Given the description of an element on the screen output the (x, y) to click on. 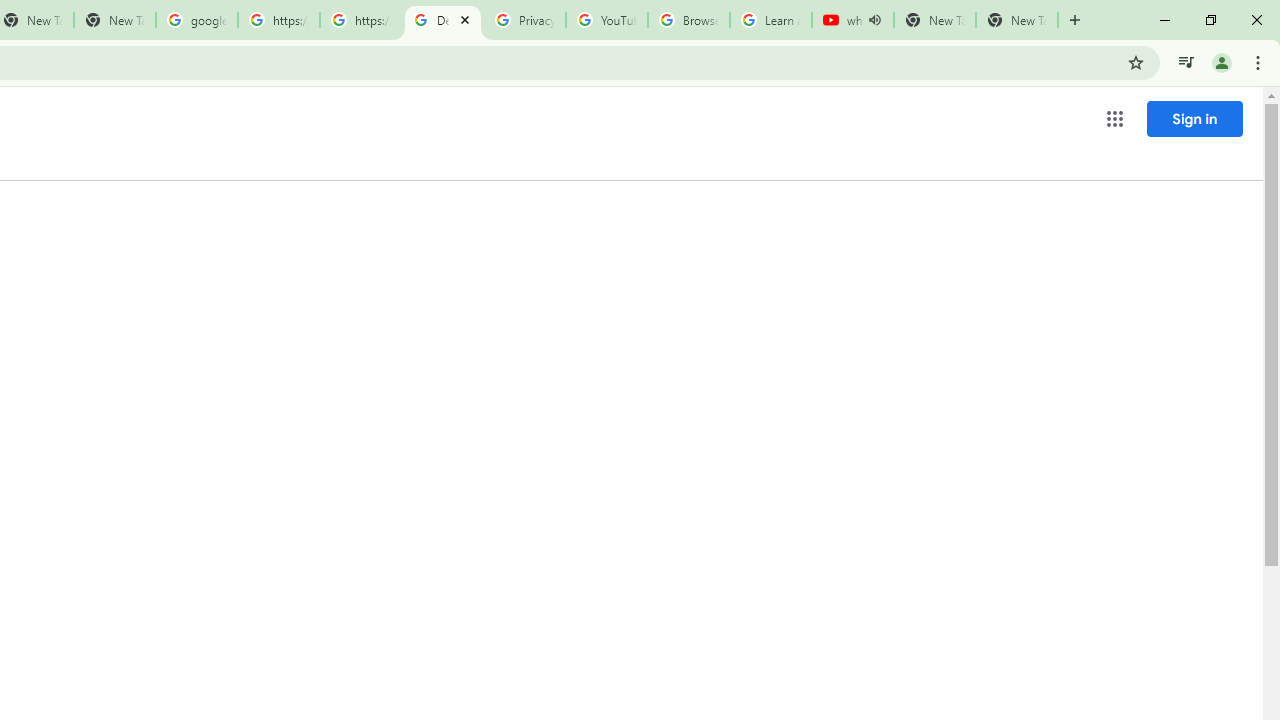
Browse Chrome as a guest - Computer - Google Chrome Help (688, 20)
https://scholar.google.com/ (360, 20)
https://scholar.google.com/ (278, 20)
Mute tab (874, 20)
